Given the description of an element on the screen output the (x, y) to click on. 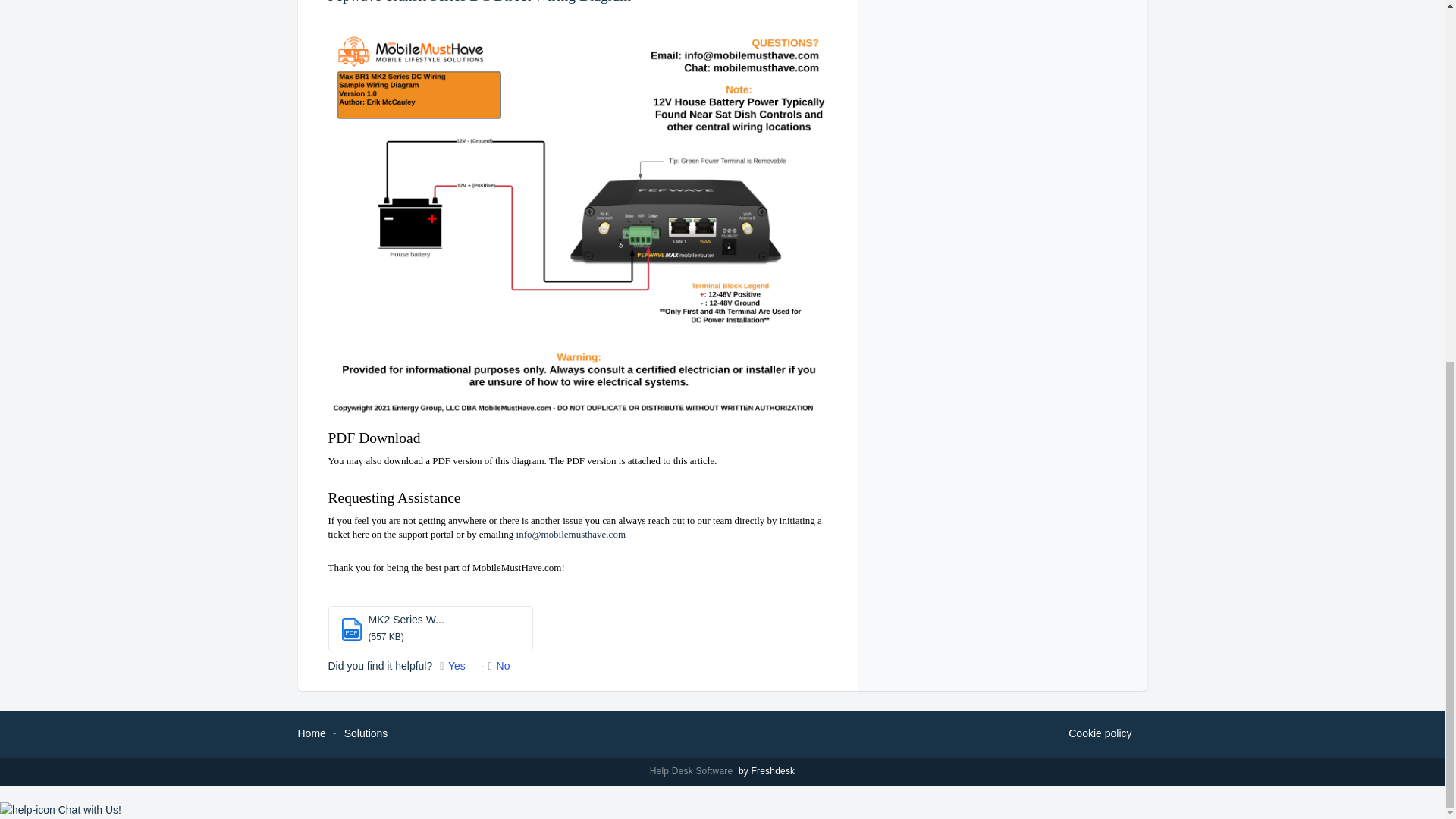
MK2 Series W... (406, 619)
Solutions (365, 733)
Why we love Cookies (1099, 733)
Home (310, 733)
Cookie policy (1099, 733)
Help Desk Software (693, 770)
